Given the description of an element on the screen output the (x, y) to click on. 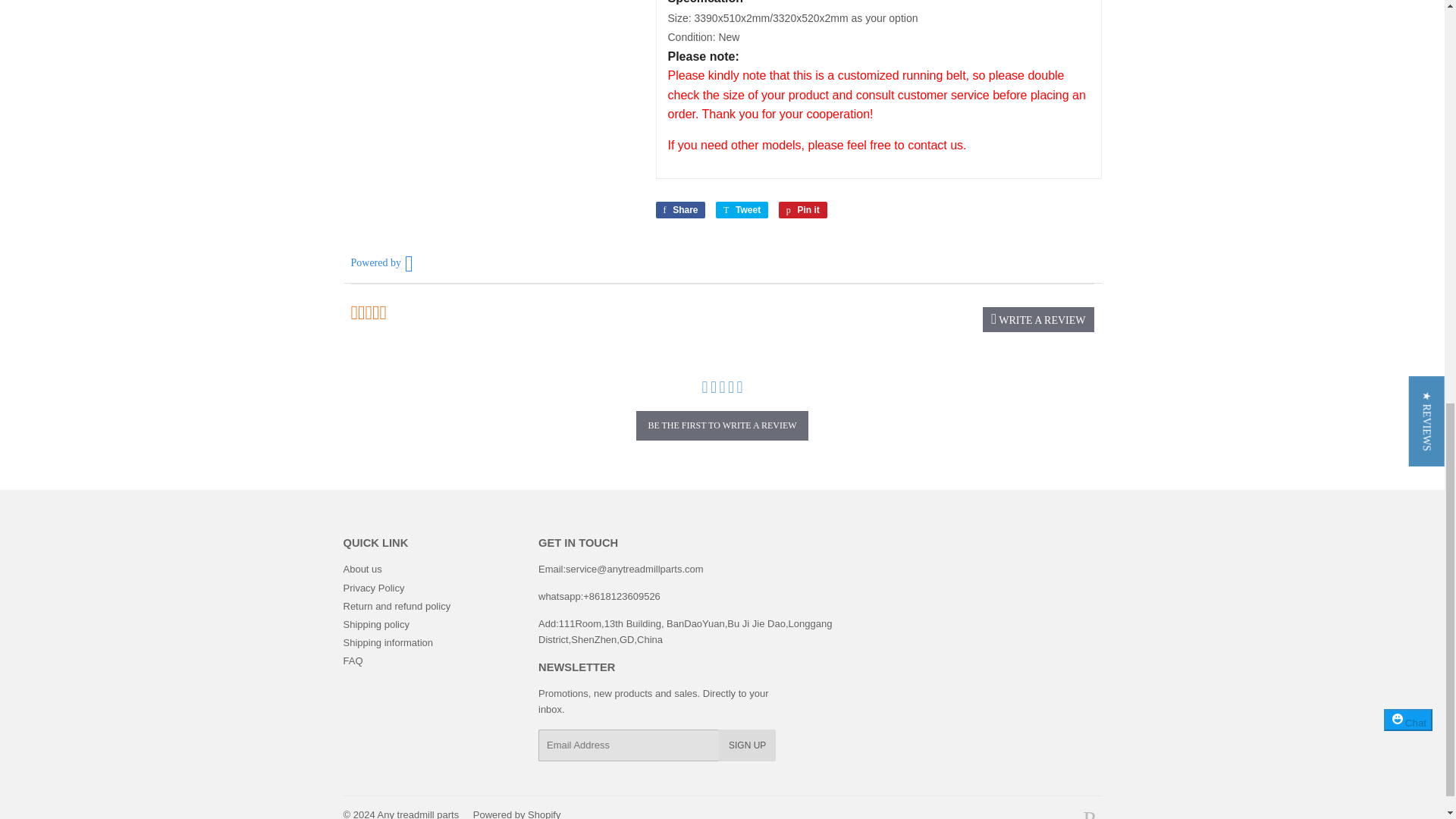
Tweet on Twitter (742, 209)
Pin on Pinterest (802, 209)
Share on Facebook (679, 209)
